Given the description of an element on the screen output the (x, y) to click on. 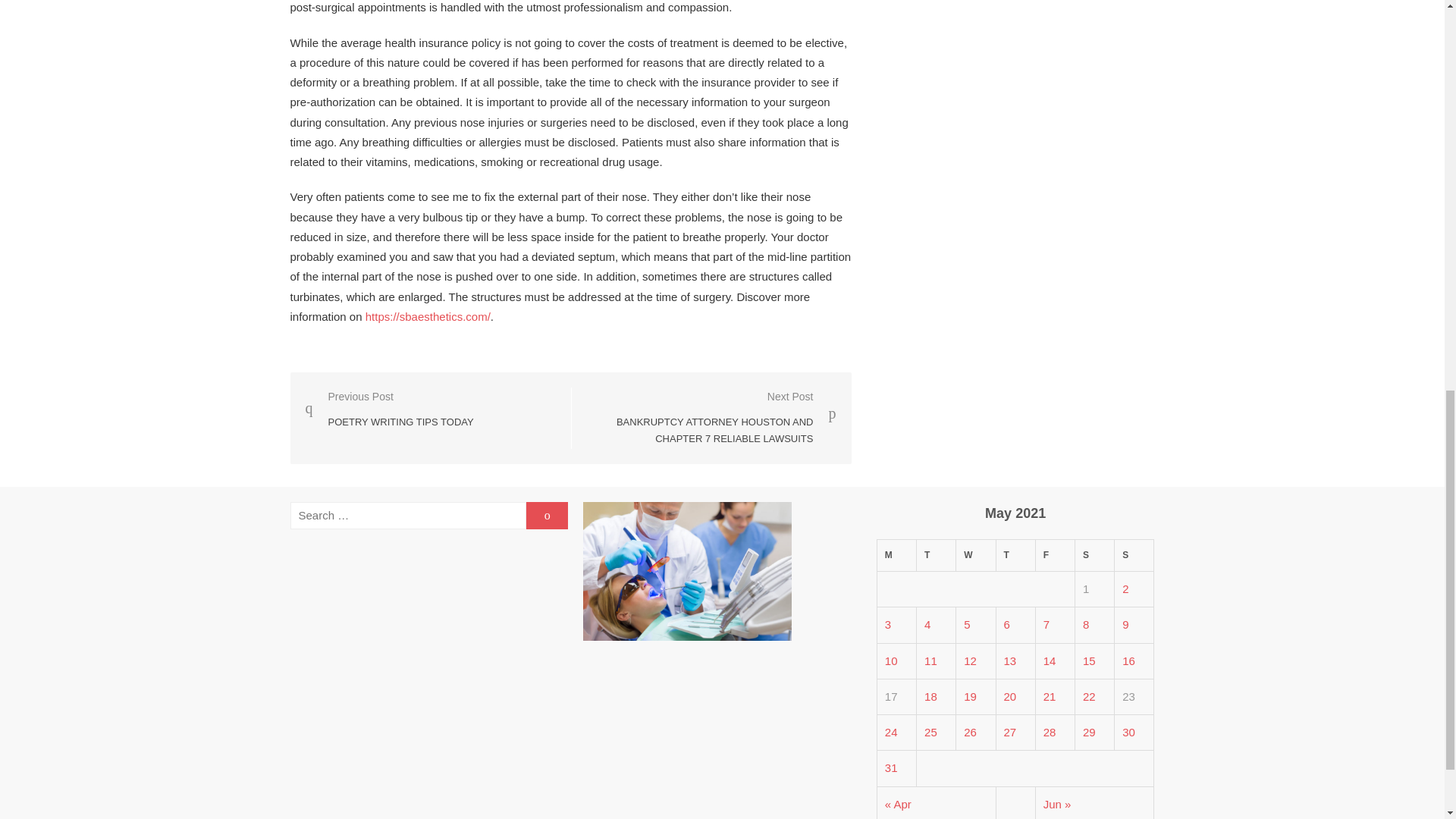
Wednesday (975, 555)
Tuesday (936, 555)
Saturday (388, 408)
Friday (1093, 555)
Sunday (1054, 555)
Thursday (1134, 555)
Monday (1015, 555)
Search (895, 555)
